Given the description of an element on the screen output the (x, y) to click on. 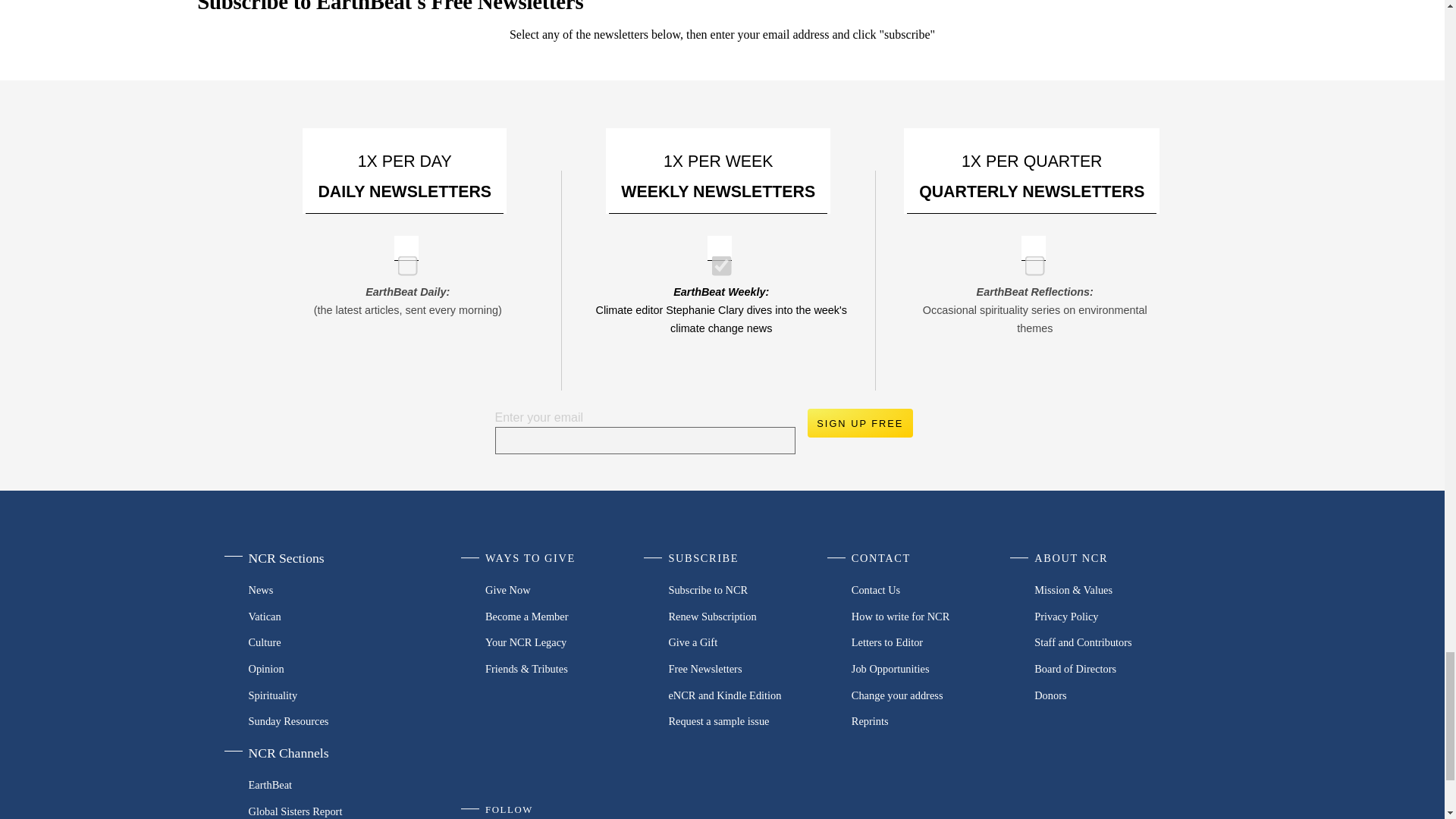
Change your address (932, 694)
bcf567f831 (1030, 260)
Donors (1114, 694)
Sign up free (859, 422)
efa1b974a2 (402, 260)
Request a sample issue of NCR (748, 721)
Request a reprint of NCR content (932, 721)
ef6500f2d3 (715, 260)
How to write for NCR (932, 615)
